Given the description of an element on the screen output the (x, y) to click on. 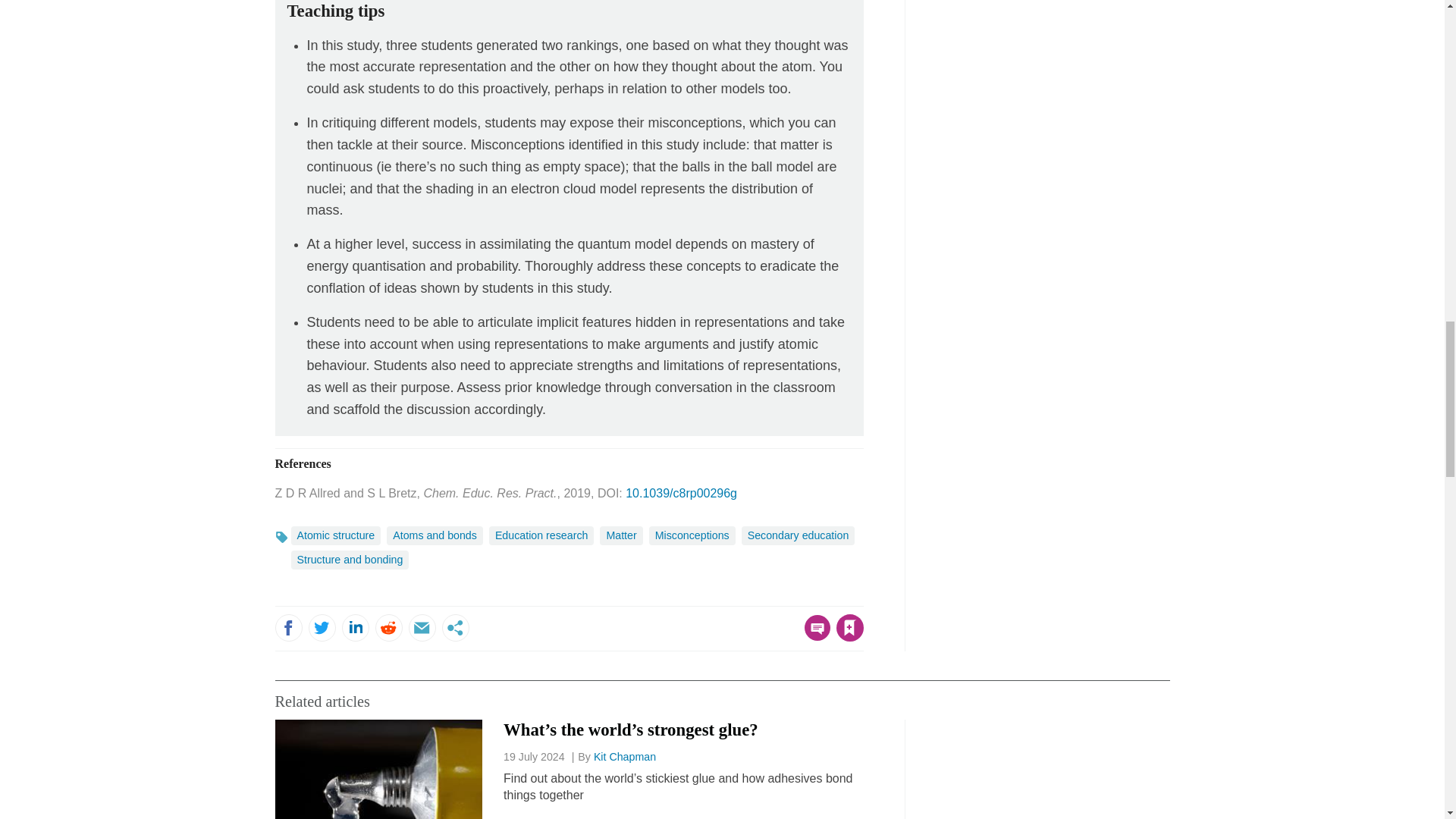
Share this on LinkedIn (354, 627)
Share this by email (421, 627)
Share this on Reddit (387, 627)
No comments (812, 636)
More share options (454, 627)
Share this on Twitter (320, 627)
Share this on Facebook (288, 627)
